Given the description of an element on the screen output the (x, y) to click on. 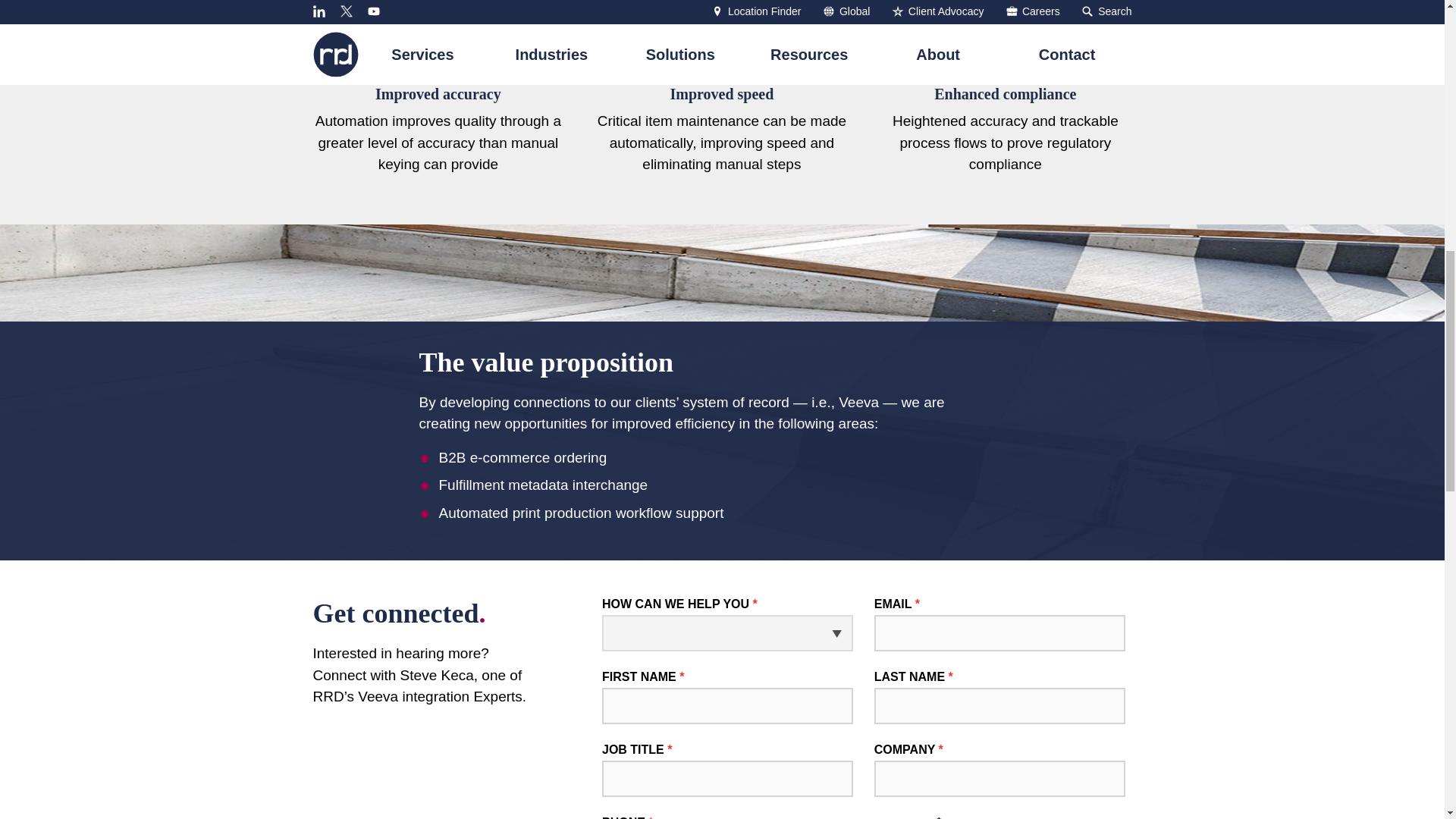
Contact Form (863, 708)
